Given the description of an element on the screen output the (x, y) to click on. 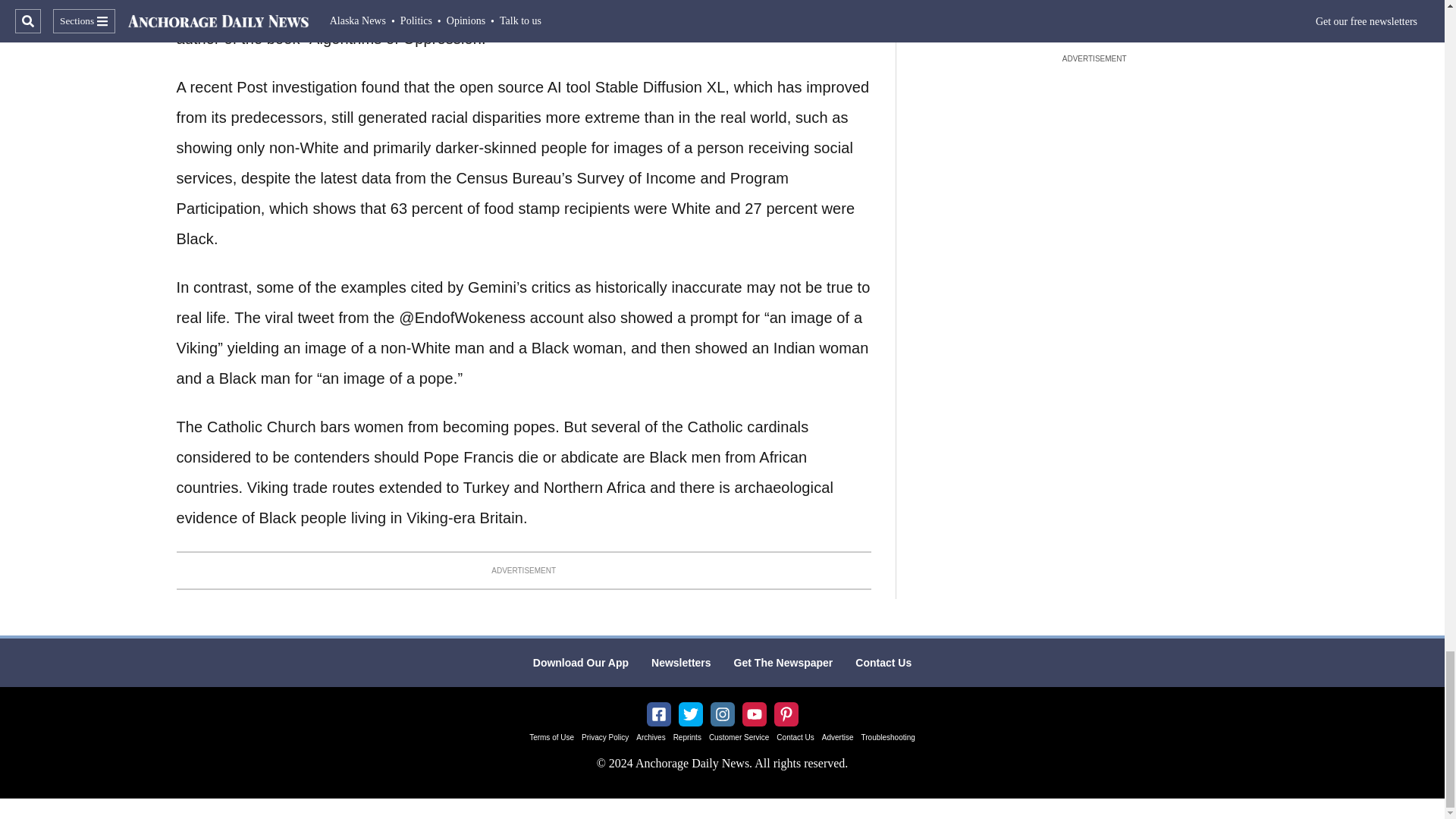
Facebook IconAnchorage Daily News Facebook Page (657, 713)
YouTube iconAnchorage Daily News YouTube channel (753, 713)
Twitter IconTwitter Account for Anchorage Daily News (689, 713)
PinterestAnchorage Daily News Pinterest Account (785, 713)
Instagram IconAnchorage Daily News instagram account (721, 713)
